Given the description of an element on the screen output the (x, y) to click on. 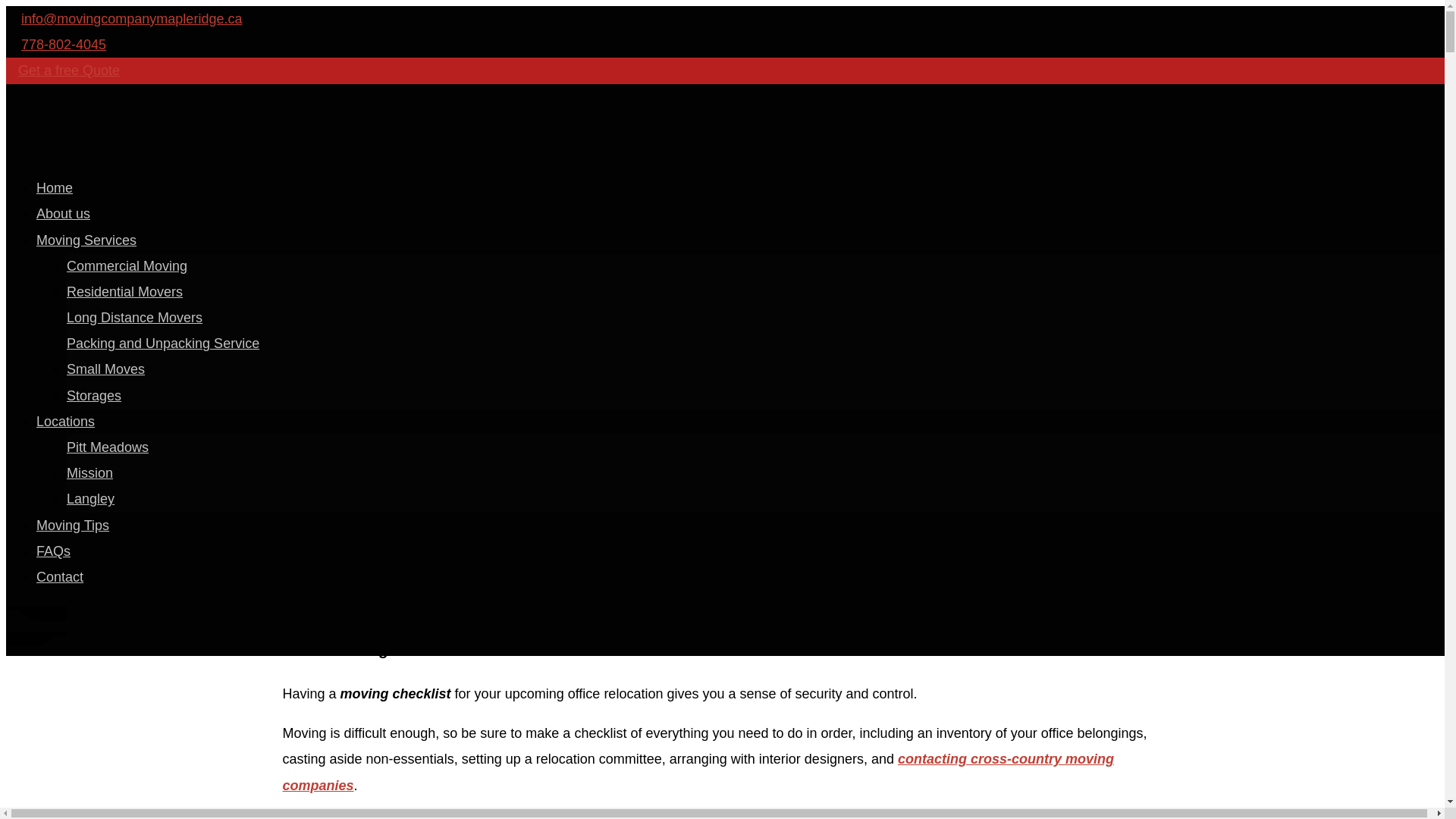
Residential Movers (124, 291)
commercial moving (619, 539)
Commercial Moving (126, 265)
Mission (89, 473)
778-802-4045 (63, 44)
contacting cross-country moving companies (697, 771)
About us (63, 213)
Packing and Unpacking Service (162, 343)
Locations (65, 421)
Moving Services (86, 239)
